Given the description of an element on the screen output the (x, y) to click on. 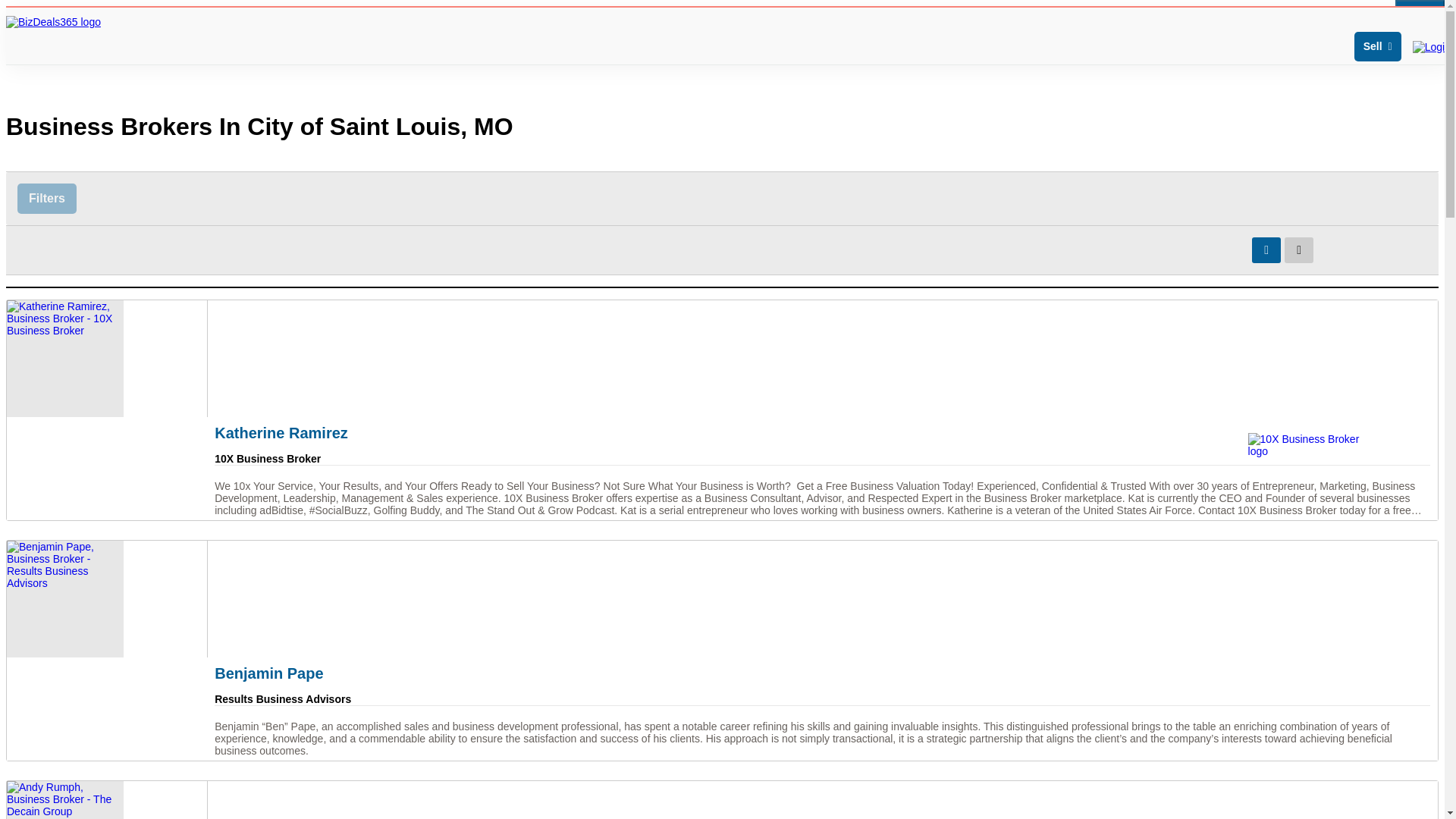
X (1419, 11)
10X Business Broker (1305, 445)
Andy Rumph, Business Broker - City of Saint Louis, MO (722, 800)
Filters (47, 198)
